Given the description of an element on the screen output the (x, y) to click on. 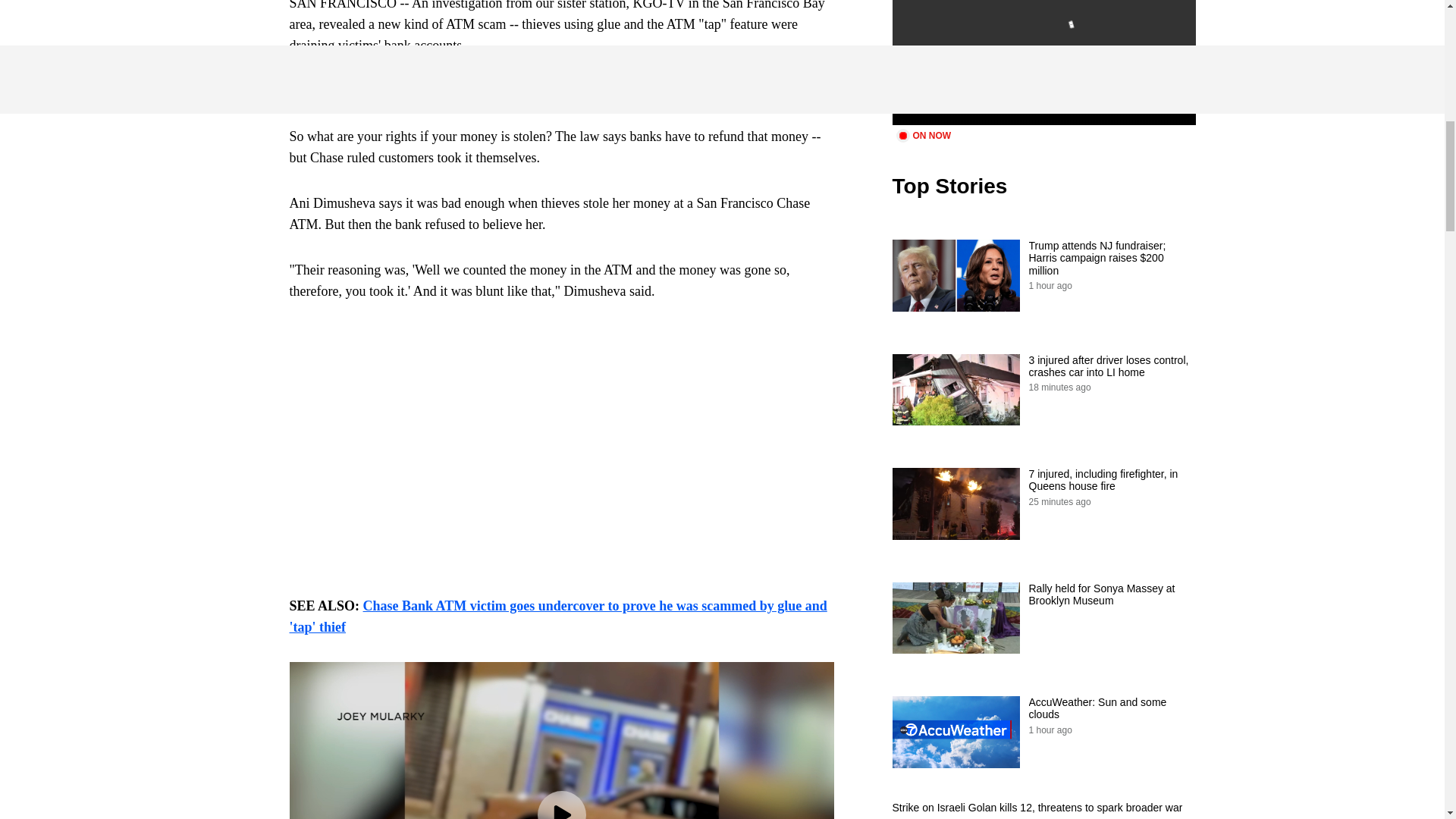
video.title (1043, 62)
